Given the description of an element on the screen output the (x, y) to click on. 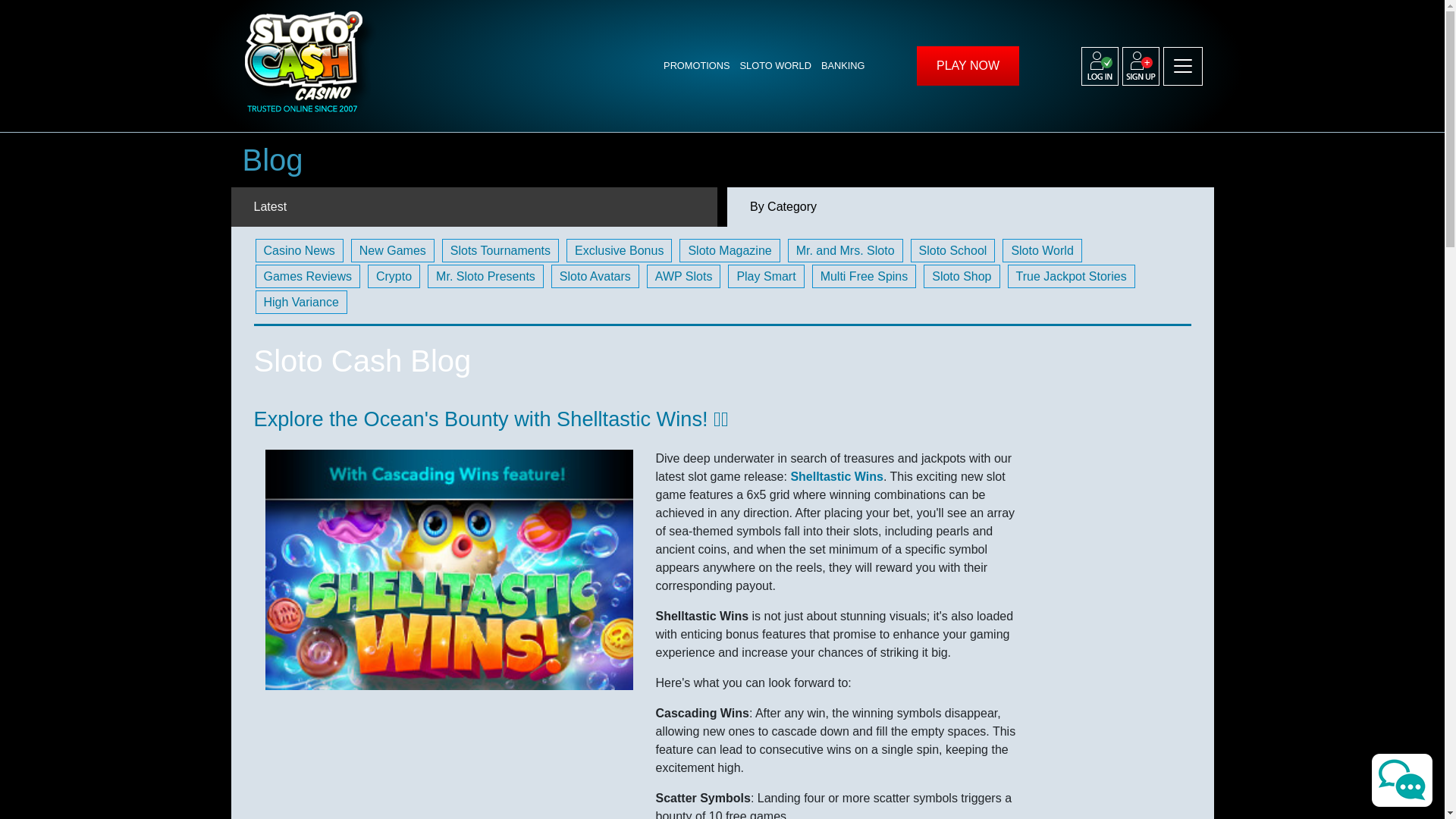
PROMOTIONS (701, 65)
Latest (473, 206)
New Games (391, 250)
Exclusive Bonus (618, 250)
BANKING (848, 65)
Sloto Shop (960, 276)
Play Smart (765, 276)
Slots Tournaments (500, 250)
Crypto (394, 276)
AWP Slots (683, 276)
Mr. Sloto Presents (485, 276)
SLOTO WORLD (780, 65)
Sloto School (953, 250)
Sloto Magazine (728, 250)
Games Reviews (306, 276)
